Given the description of an element on the screen output the (x, y) to click on. 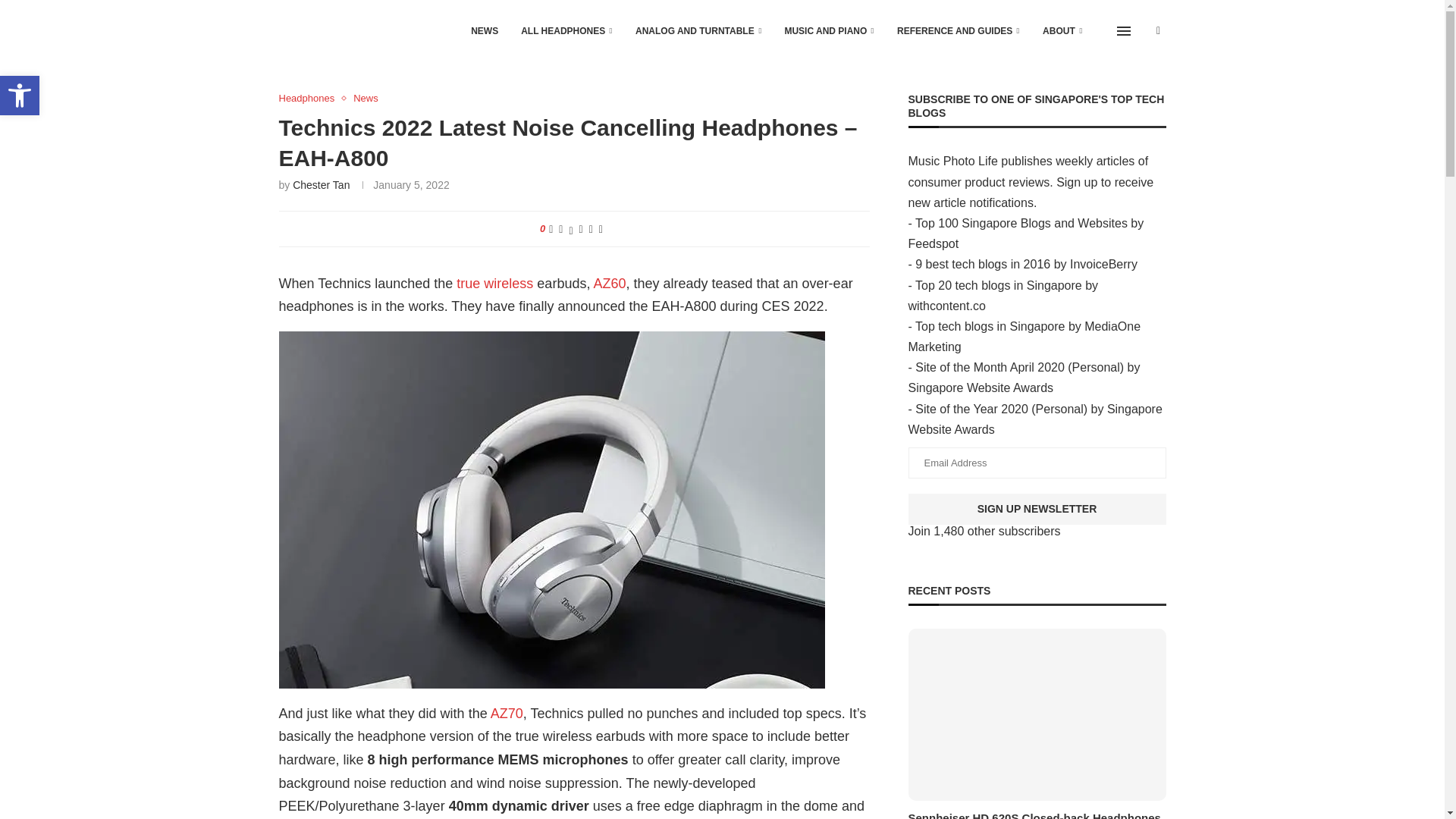
MUSIC AND PIANO (829, 30)
Chester Tan (320, 184)
REFERENCE AND GUIDES (958, 30)
Accessibility Tools (19, 95)
ALL HEADPHONES (566, 30)
News (365, 98)
Headphones (310, 98)
ANALOG AND TURNTABLE (697, 30)
